Given the description of an element on the screen output the (x, y) to click on. 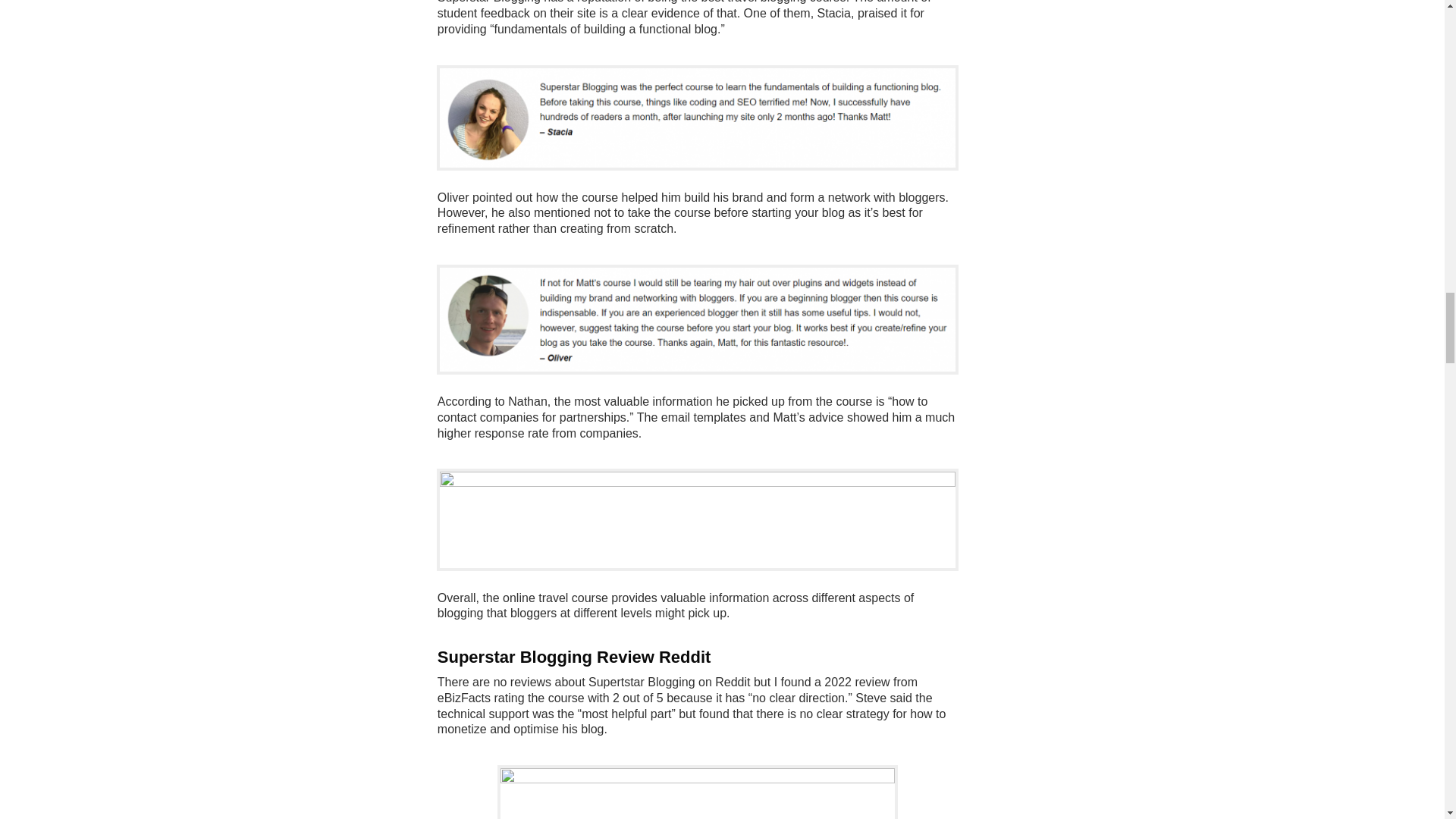
superstar blogging review 4 (697, 793)
superstar blogging review 3 (697, 519)
superstar blogging review 1 (697, 117)
superstar blogging review 2 (697, 319)
